Given the description of an element on the screen output the (x, y) to click on. 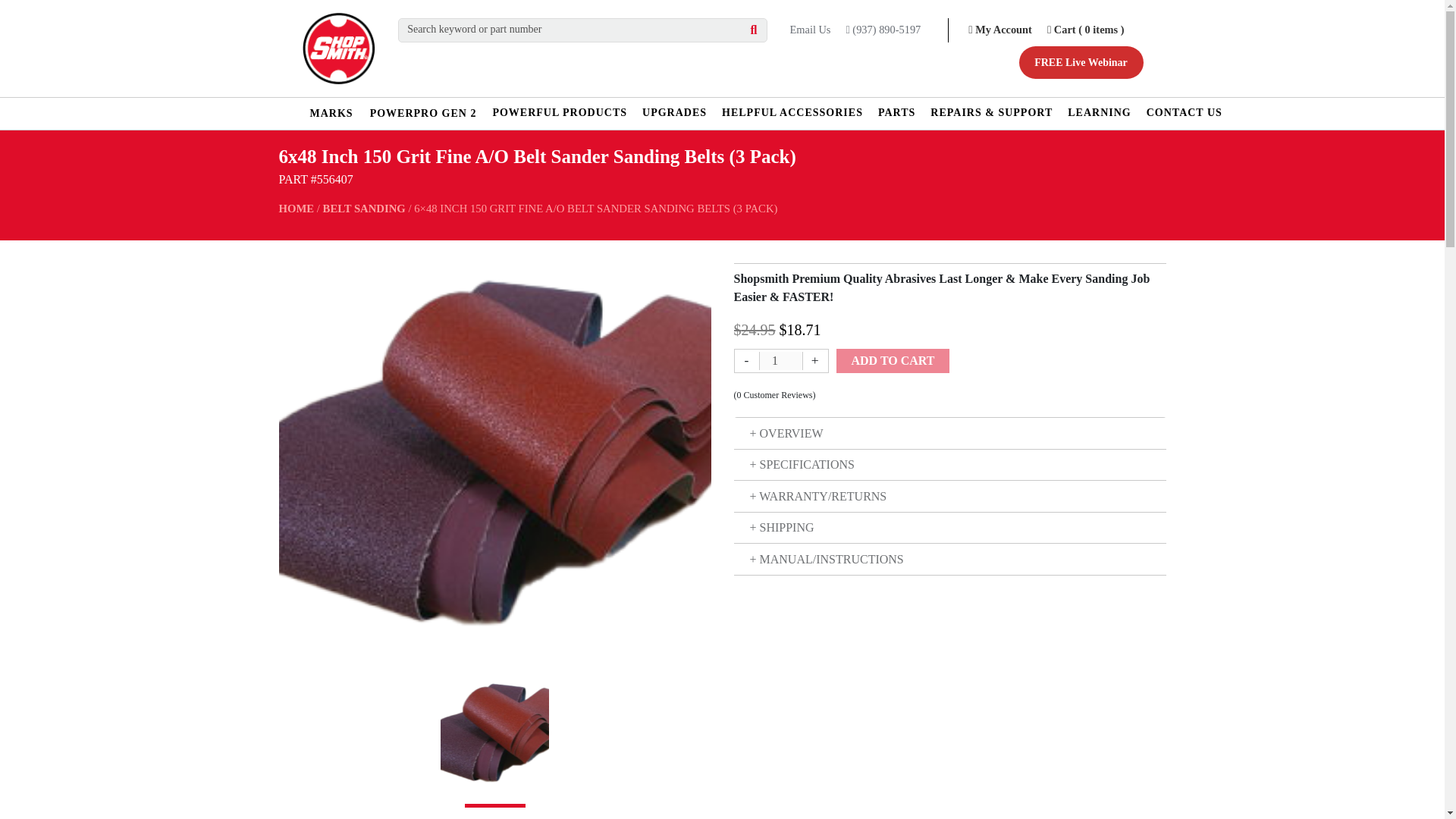
MARKS (331, 112)
Qty (780, 361)
Email Us (810, 30)
FREE Live Webinar (1080, 62)
1 (780, 361)
My Account (1000, 30)
